Given the description of an element on the screen output the (x, y) to click on. 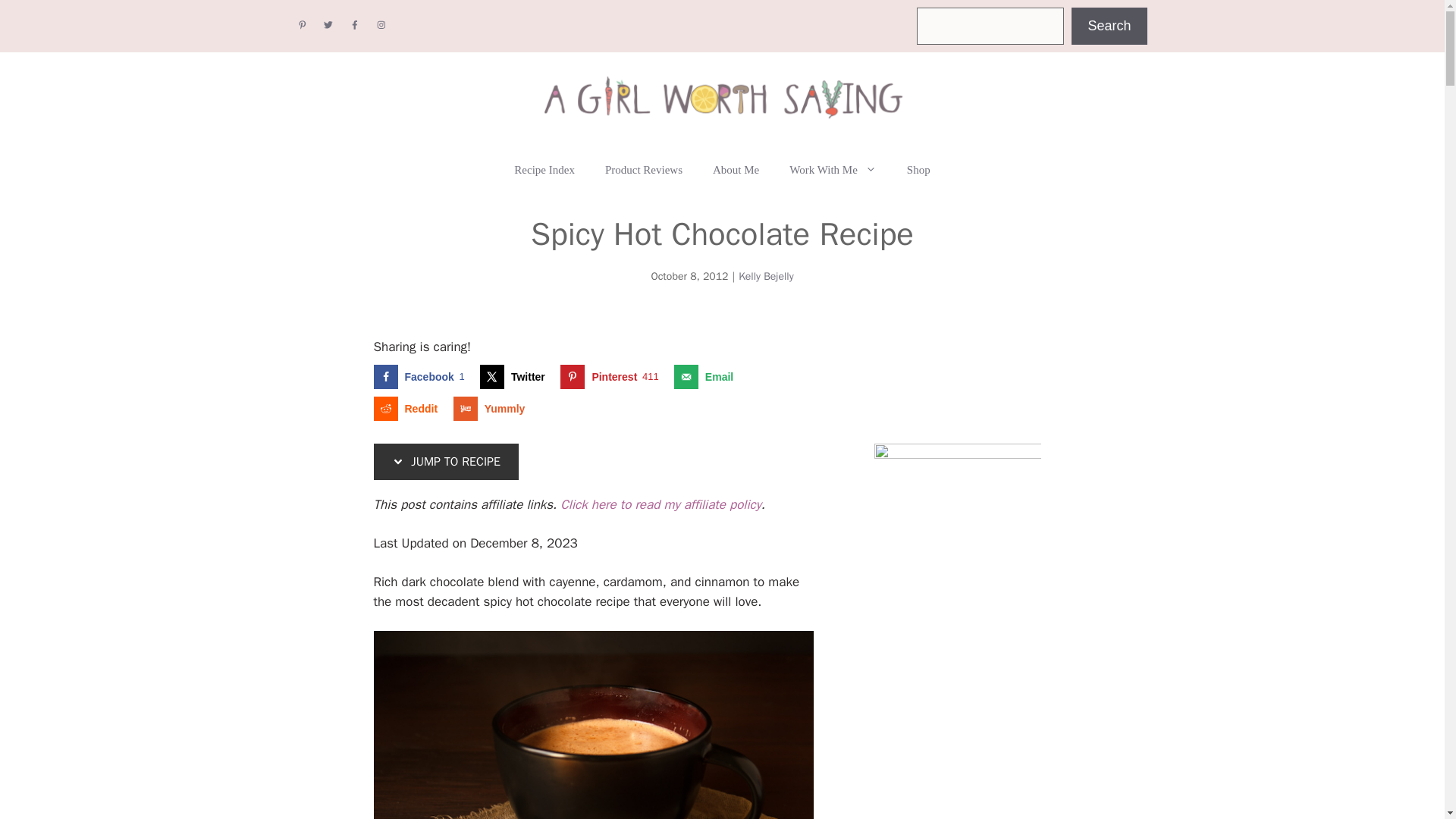
Reddit (408, 408)
Email (706, 376)
Share on Yummly (492, 408)
Product Reviews (421, 376)
Shop (643, 169)
Recipe Index (917, 169)
Share on Facebook (544, 169)
Death by Spicy Hot Chocolate (421, 376)
Click here to read my affiliate policy (592, 724)
Search (660, 504)
Send over email (612, 376)
JUMP TO RECIPE (1109, 26)
Yummly (706, 376)
